Given the description of an element on the screen output the (x, y) to click on. 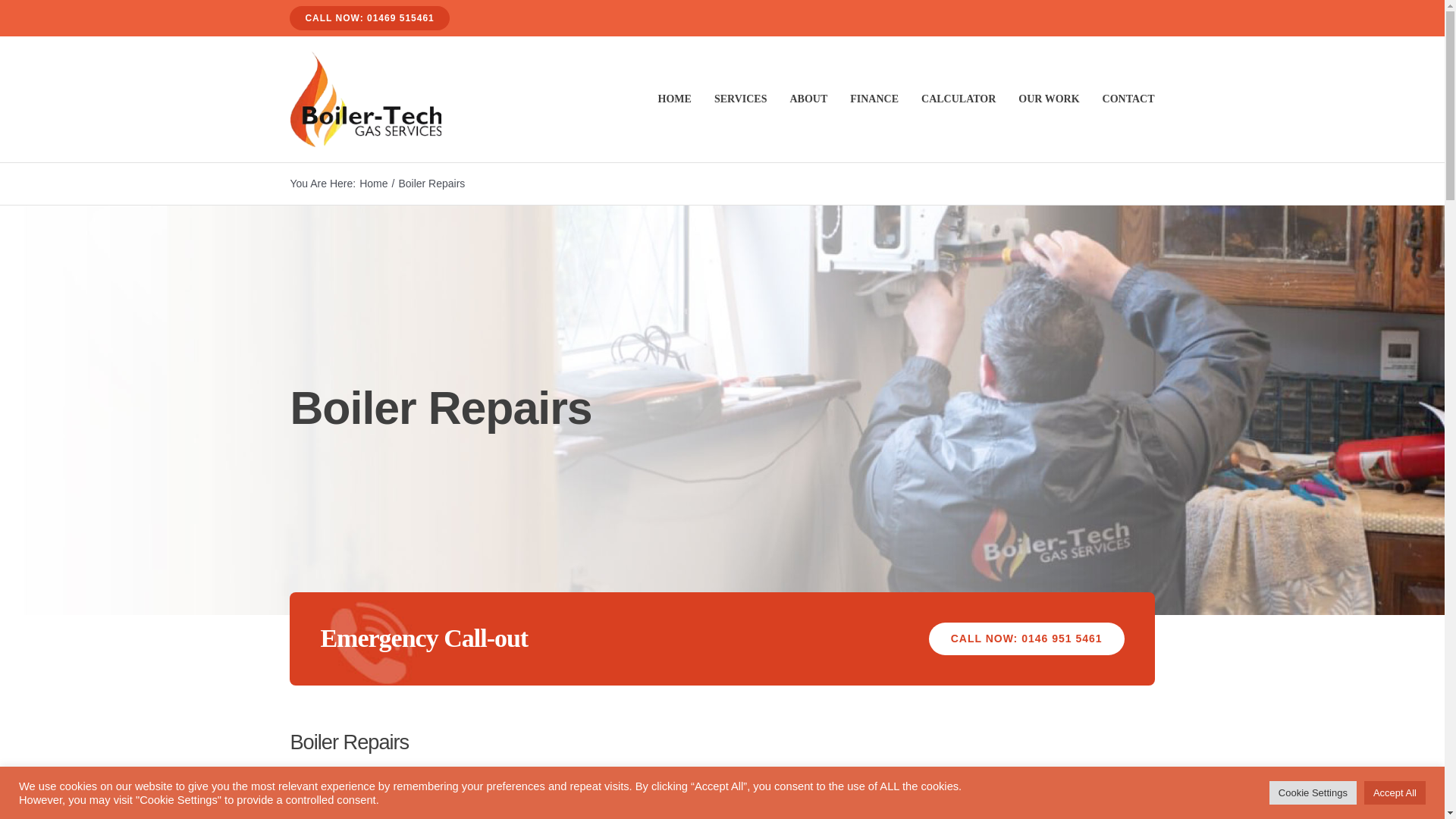
Home (373, 183)
OUR WORK (1047, 98)
FINANCE (874, 98)
CALL NOW (1026, 638)
ABOUT (808, 98)
CALL NOW: 0146 951 5461 (1026, 638)
CONTACT (1128, 98)
SERVICES (740, 98)
CALL NOW: 01469 515461 (368, 17)
CALCULATOR (958, 98)
